Given the description of an element on the screen output the (x, y) to click on. 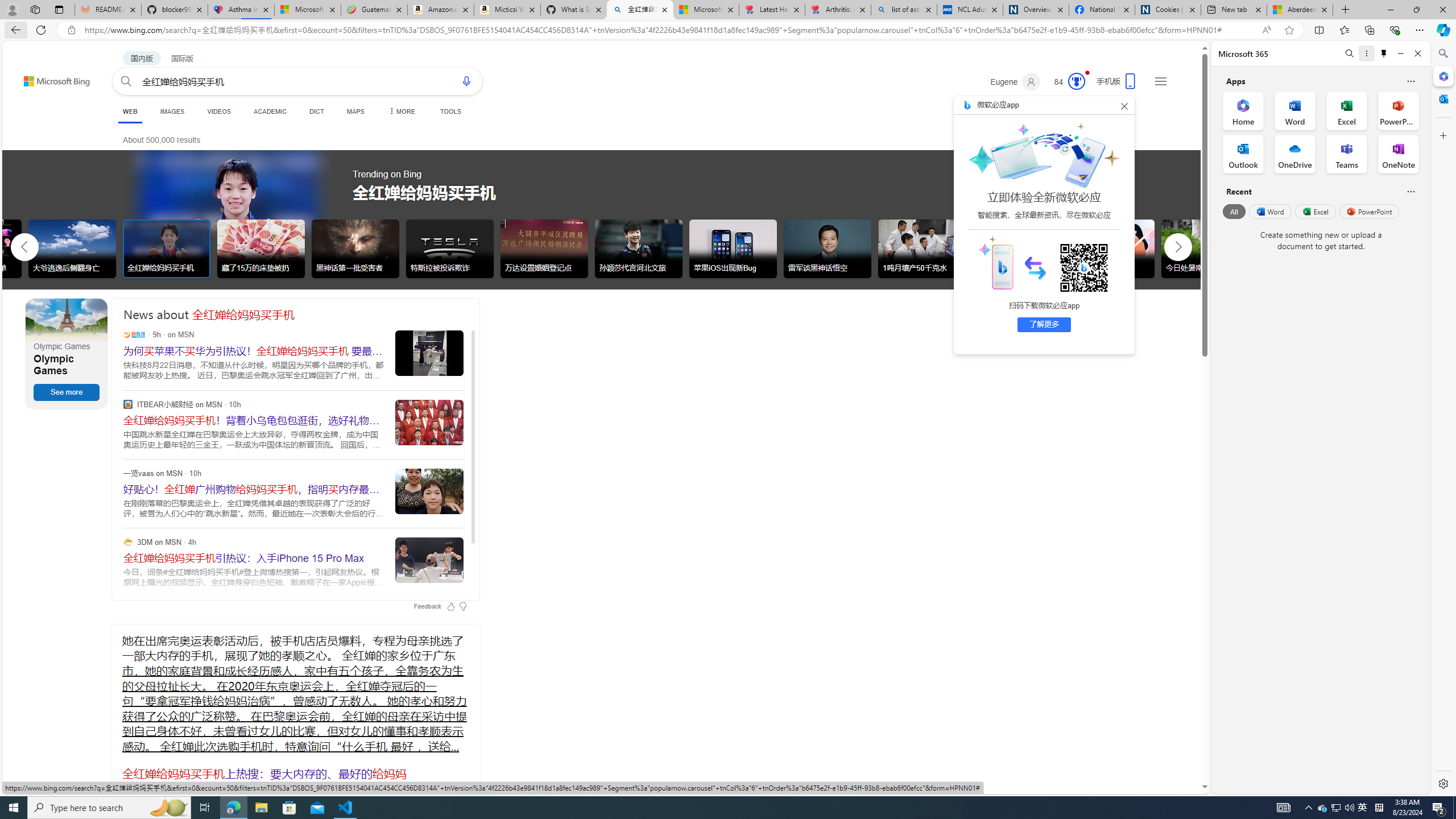
Word Office App (1295, 110)
Olympic Games Olympic Games See more (66, 353)
Search button (126, 80)
Unpin side pane (1383, 53)
Home Office App (1243, 110)
Eugene (1015, 81)
Search using voice (465, 80)
NCL Adult Asthma Inhaler Choice Guideline (969, 9)
